Given the description of an element on the screen output the (x, y) to click on. 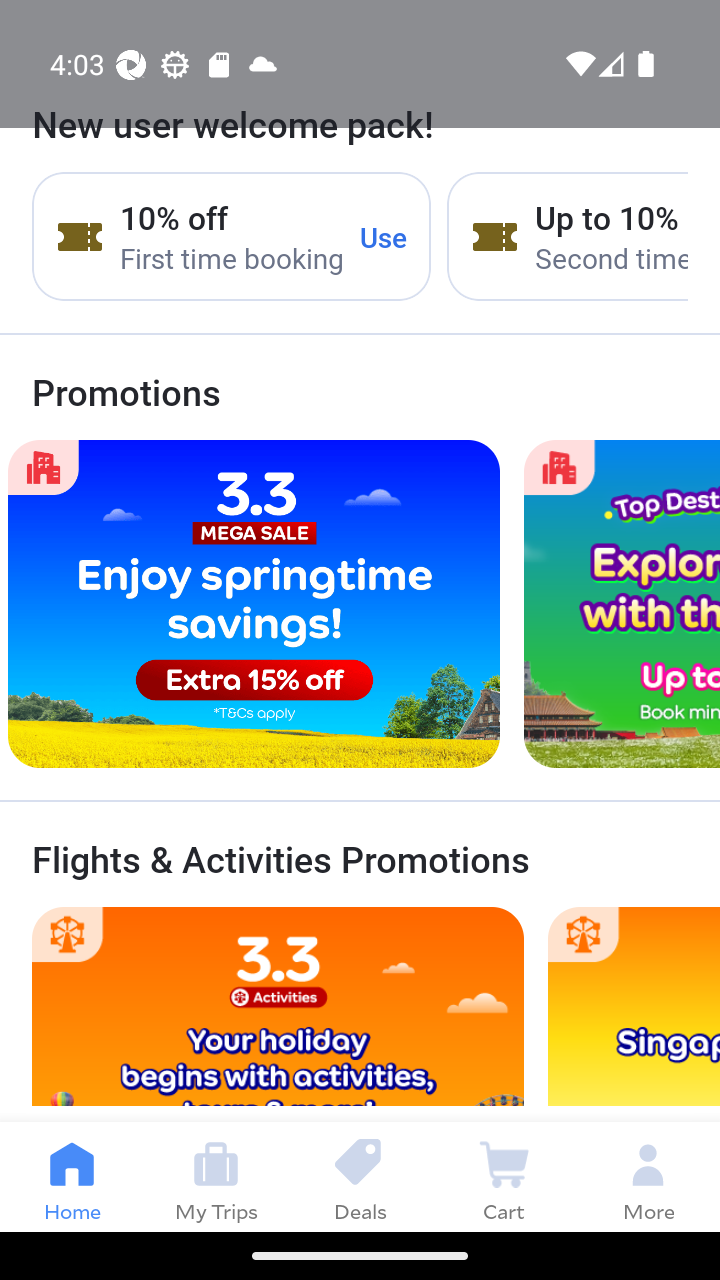
Use (384, 237)
Home (72, 1176)
My Trips (216, 1176)
Deals (360, 1176)
Cart (504, 1176)
More (648, 1176)
